Given the description of an element on the screen output the (x, y) to click on. 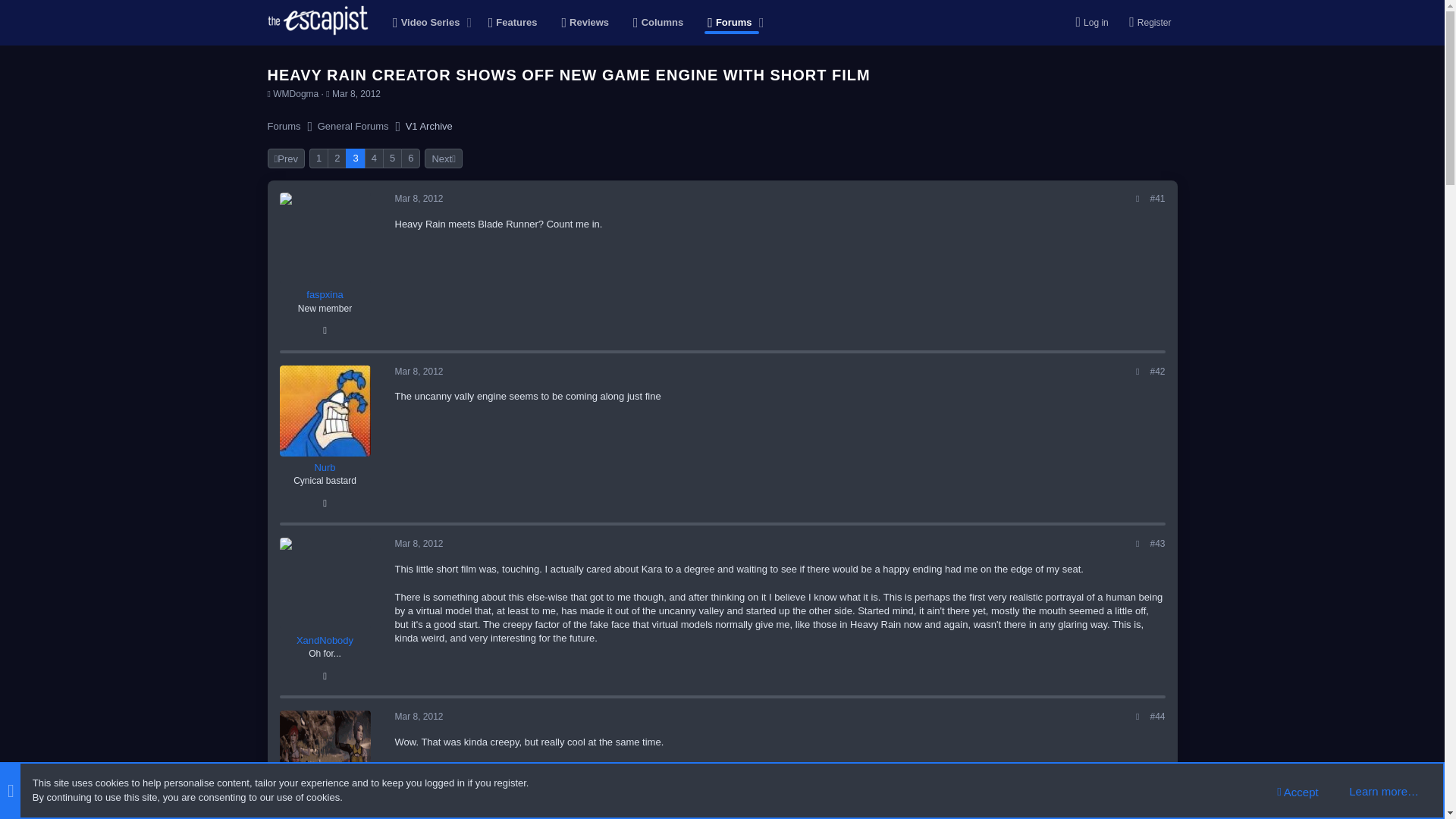
3 (355, 158)
4 (373, 158)
Video Series (421, 22)
Forums (724, 22)
Log in (1088, 22)
2 (337, 158)
Columns (658, 22)
Forums (282, 126)
Mar 8, 2012 at 10:46 PM (574, 22)
